Given the description of an element on the screen output the (x, y) to click on. 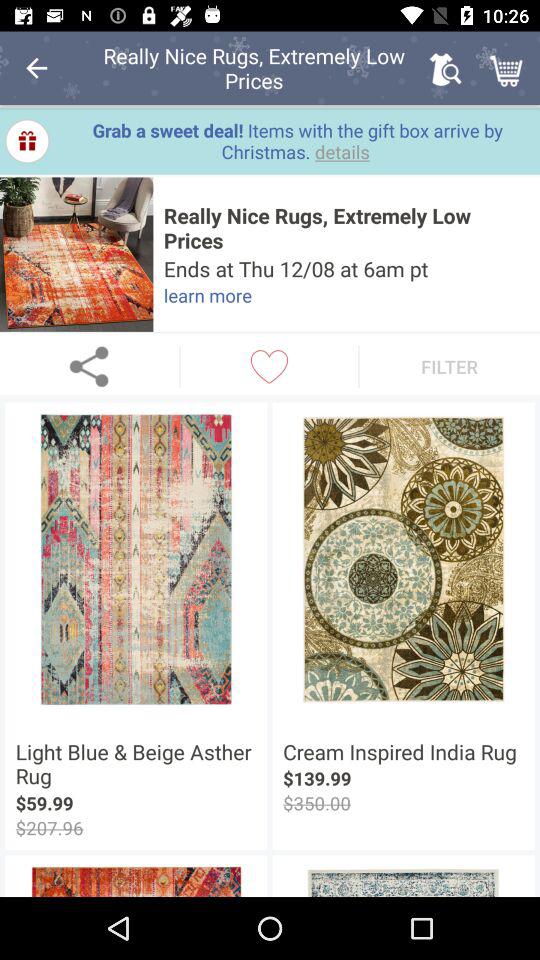
turn off icon next to really nice rugs icon (76, 254)
